Given the description of an element on the screen output the (x, y) to click on. 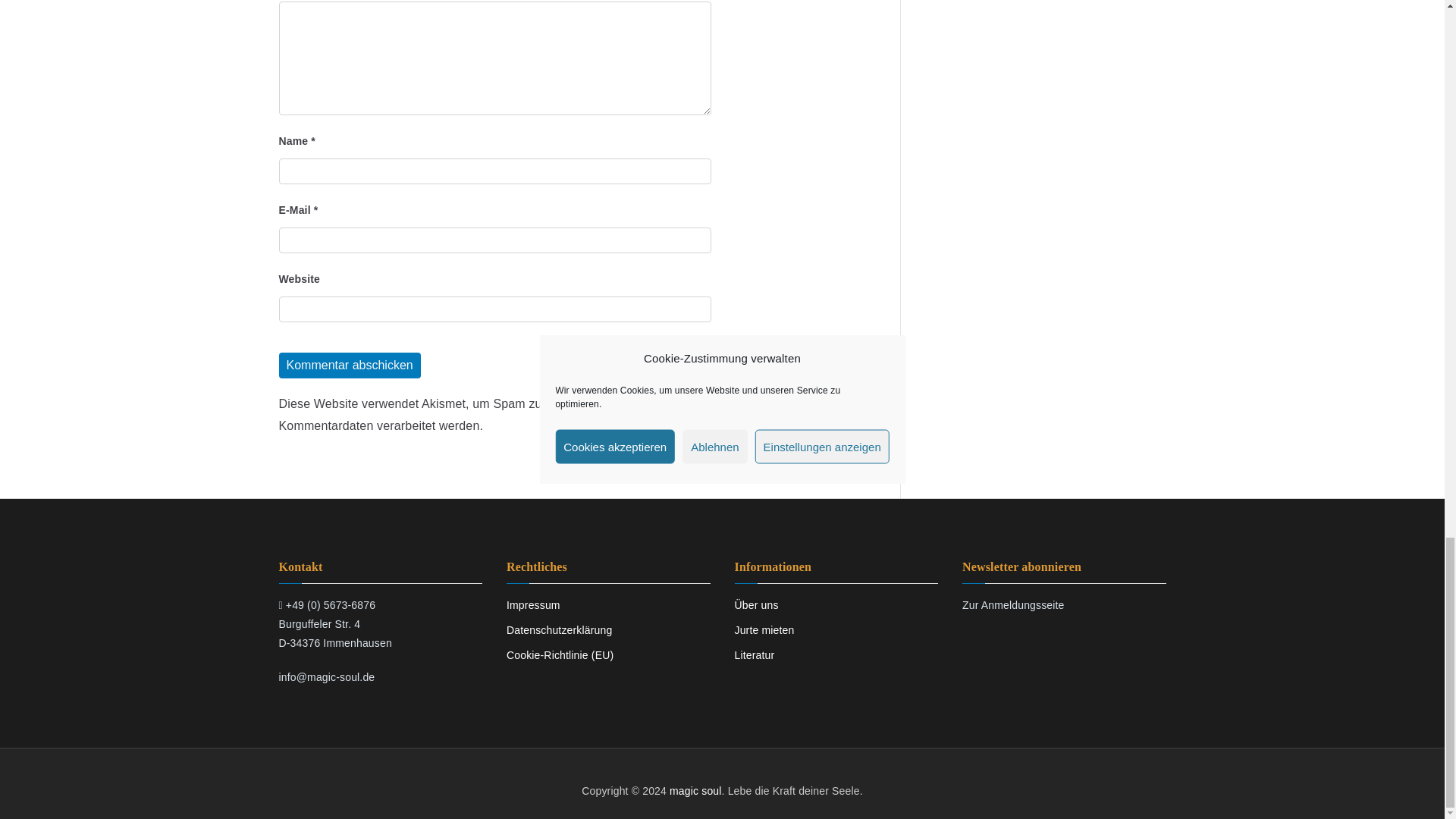
magic soul (695, 790)
Kommentar abschicken (349, 365)
